Given the description of an element on the screen output the (x, y) to click on. 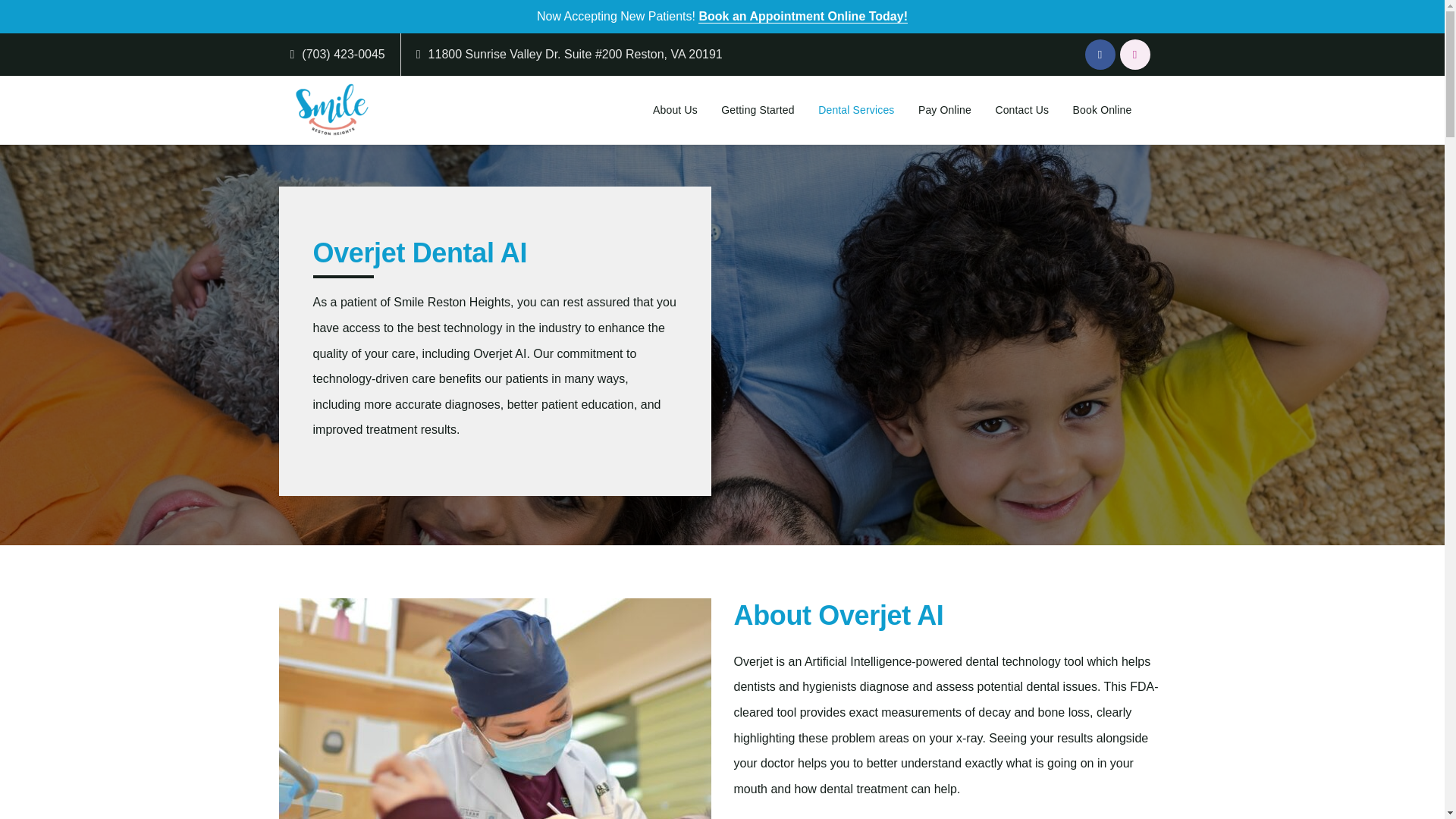
Instagram (1134, 54)
Book an Appointment Online Today! (802, 16)
Facebook (1099, 54)
